Given the description of an element on the screen output the (x, y) to click on. 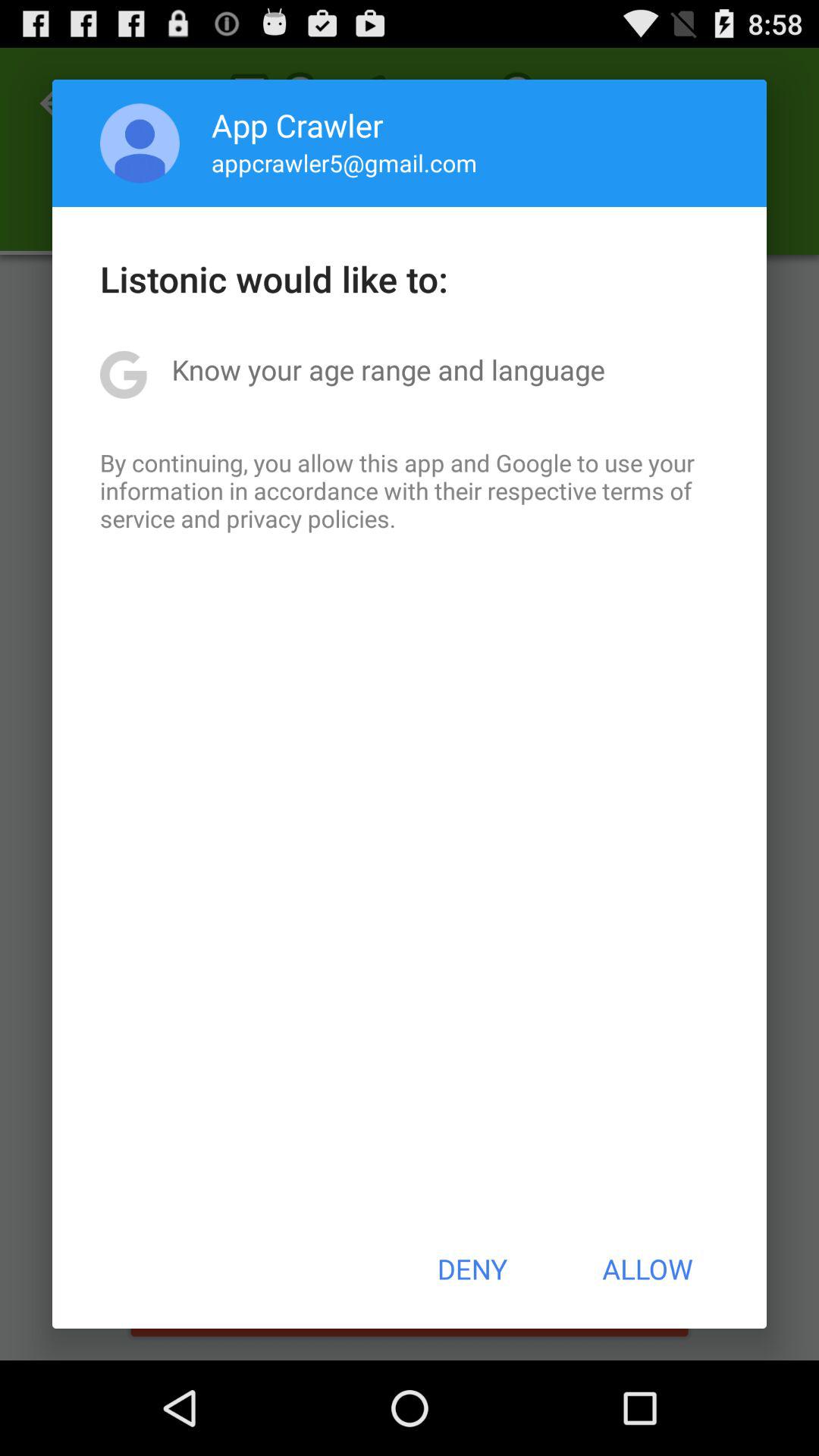
turn off the appcrawler5@gmail.com item (344, 162)
